Given the description of an element on the screen output the (x, y) to click on. 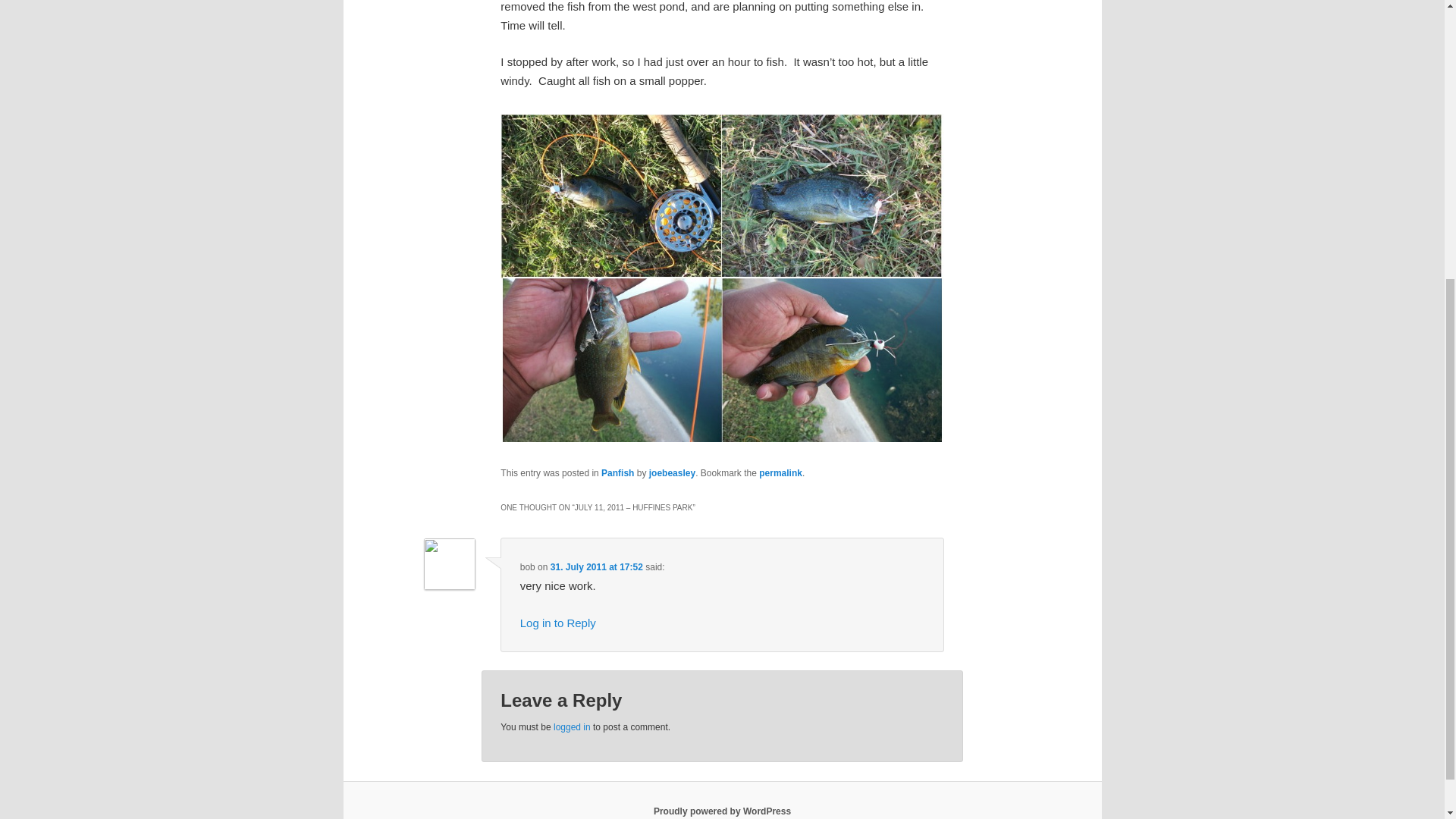
july-11-2011.jpg (721, 437)
Log in to Reply (557, 622)
31. July 2011 at 17:52 (596, 566)
permalink (780, 472)
Panfish (617, 472)
logged in (572, 726)
joebeasley (672, 472)
Proudly powered by WordPress (721, 810)
Semantic Personal Publishing Platform (721, 810)
